Given the description of an element on the screen output the (x, y) to click on. 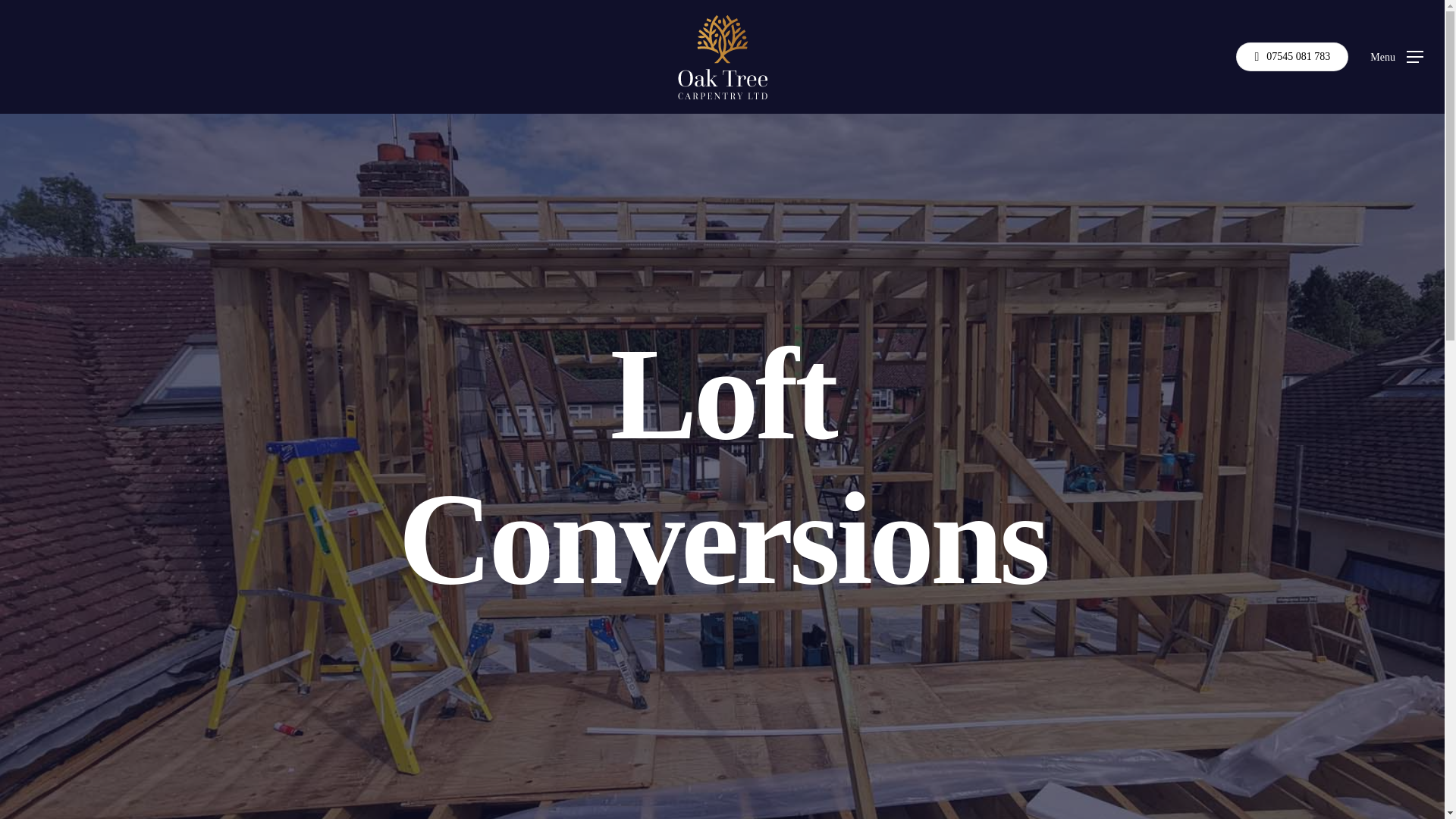
07545 081 783 (1292, 56)
Menu (1396, 56)
